Given the description of an element on the screen output the (x, y) to click on. 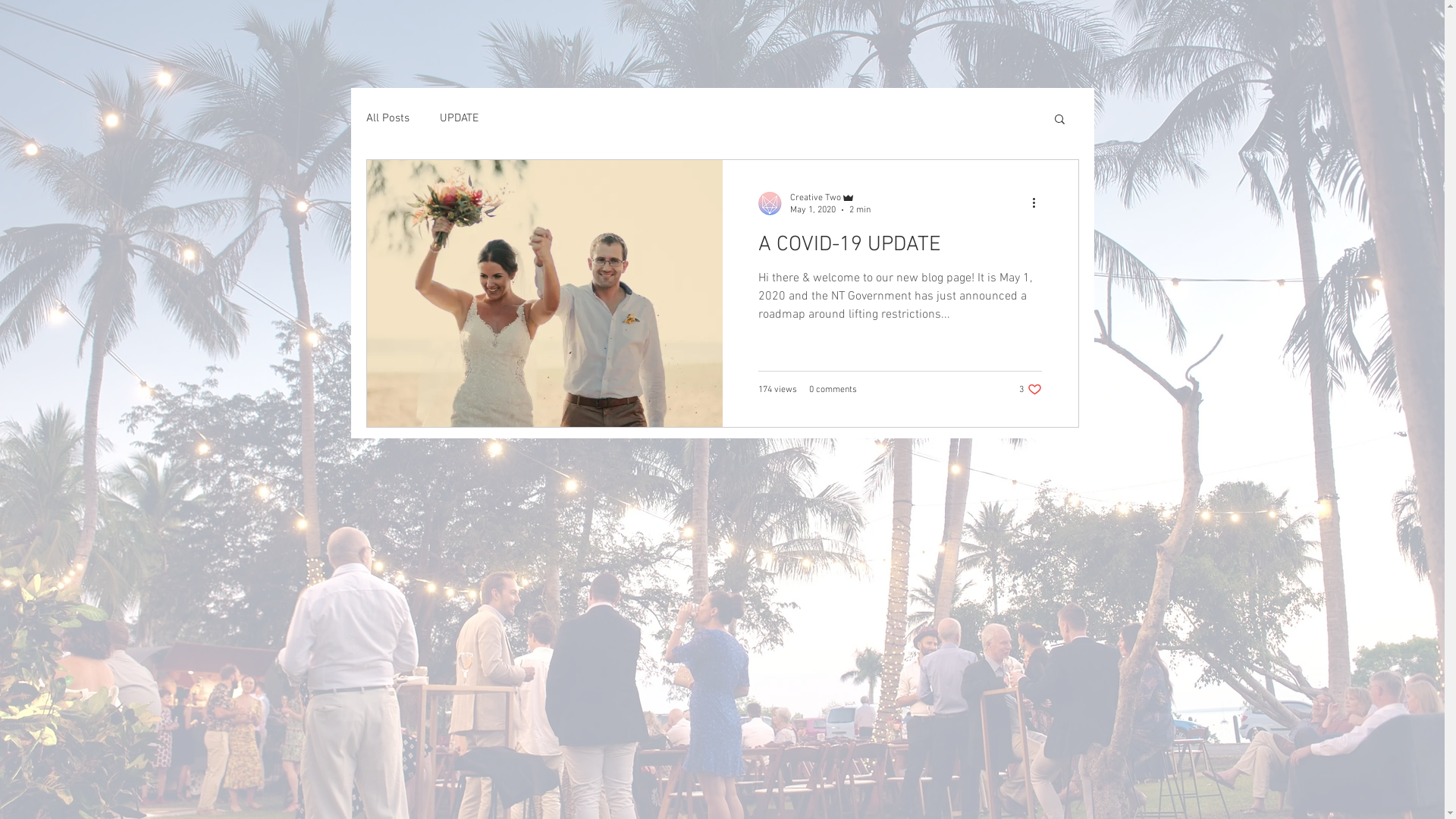
0 comments Element type: text (832, 389)
A COVID-19 UPDATE Element type: text (899, 249)
UPDATE Element type: text (458, 118)
All Posts Element type: text (386, 118)
3 likes. Post not marked as liked
3 Element type: text (1030, 389)
